Given the description of an element on the screen output the (x, y) to click on. 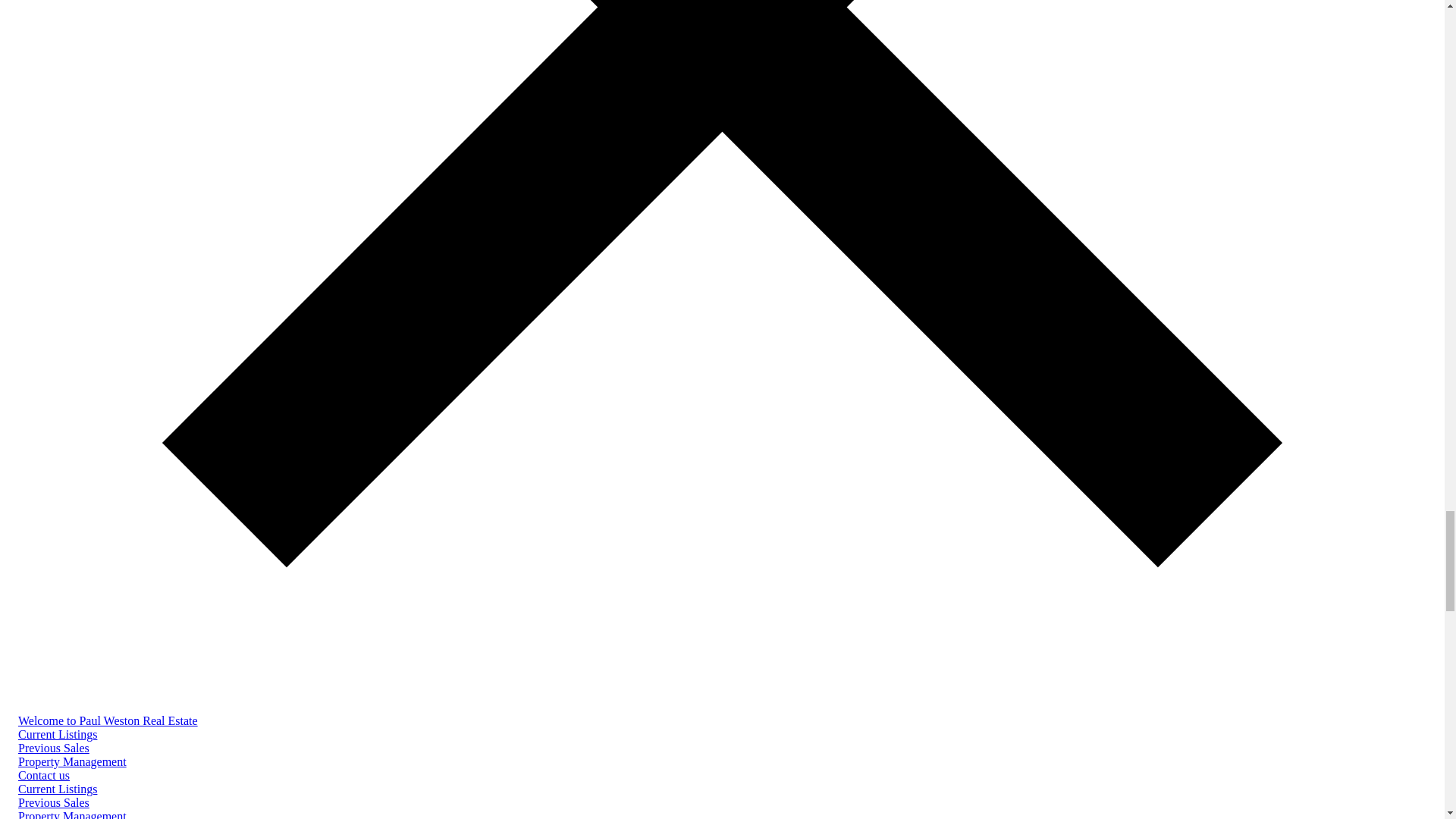
Property Management (71, 761)
Current Listings (57, 734)
Previous Sales (52, 748)
Previous Sales (52, 802)
Property Management (71, 814)
Contact us (43, 775)
Welcome to Paul Weston Real Estate (107, 720)
Current Listings (57, 788)
